Given the description of an element on the screen output the (x, y) to click on. 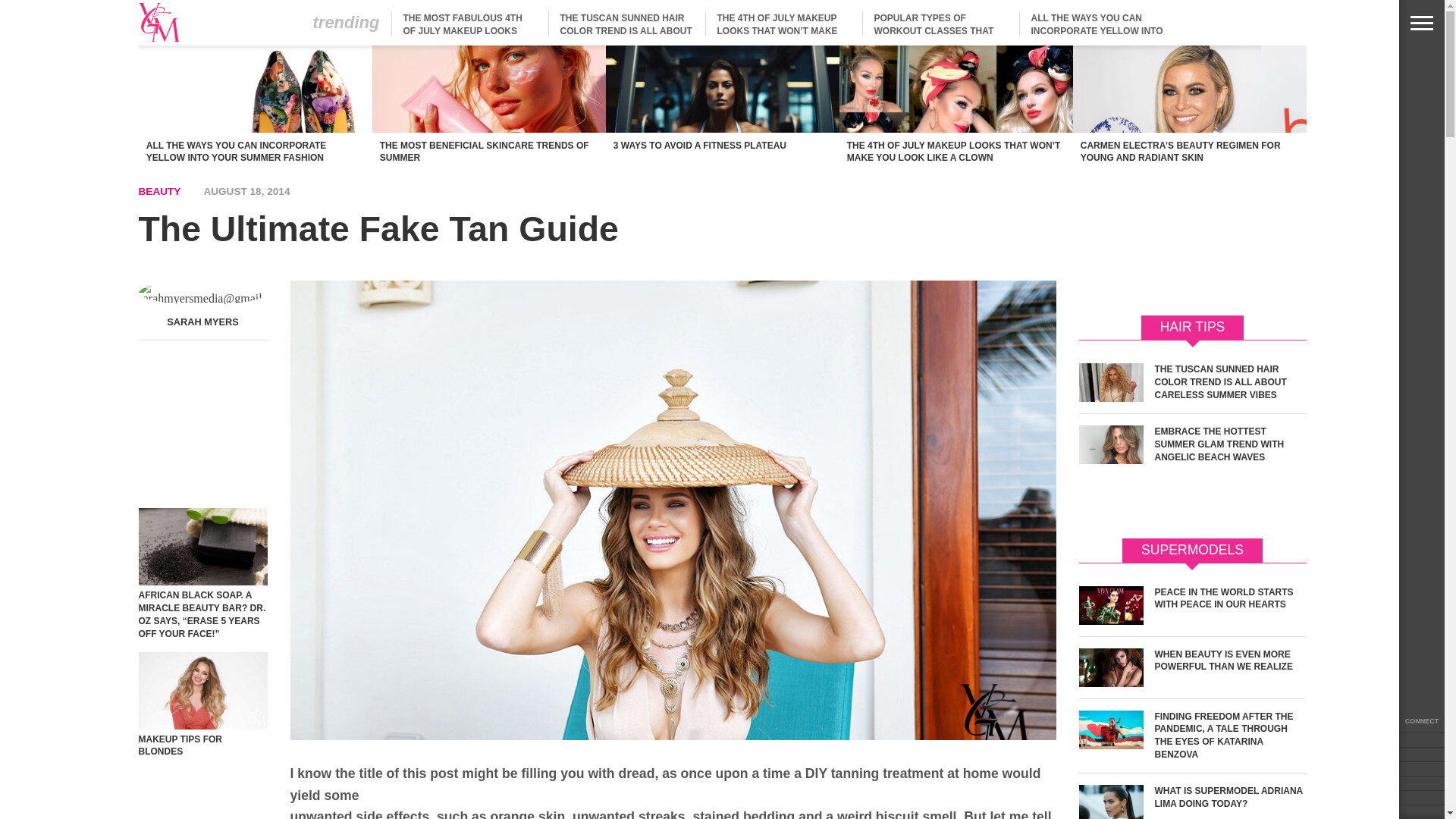
Posts by Sarah Myers (202, 321)
